Given the description of an element on the screen output the (x, y) to click on. 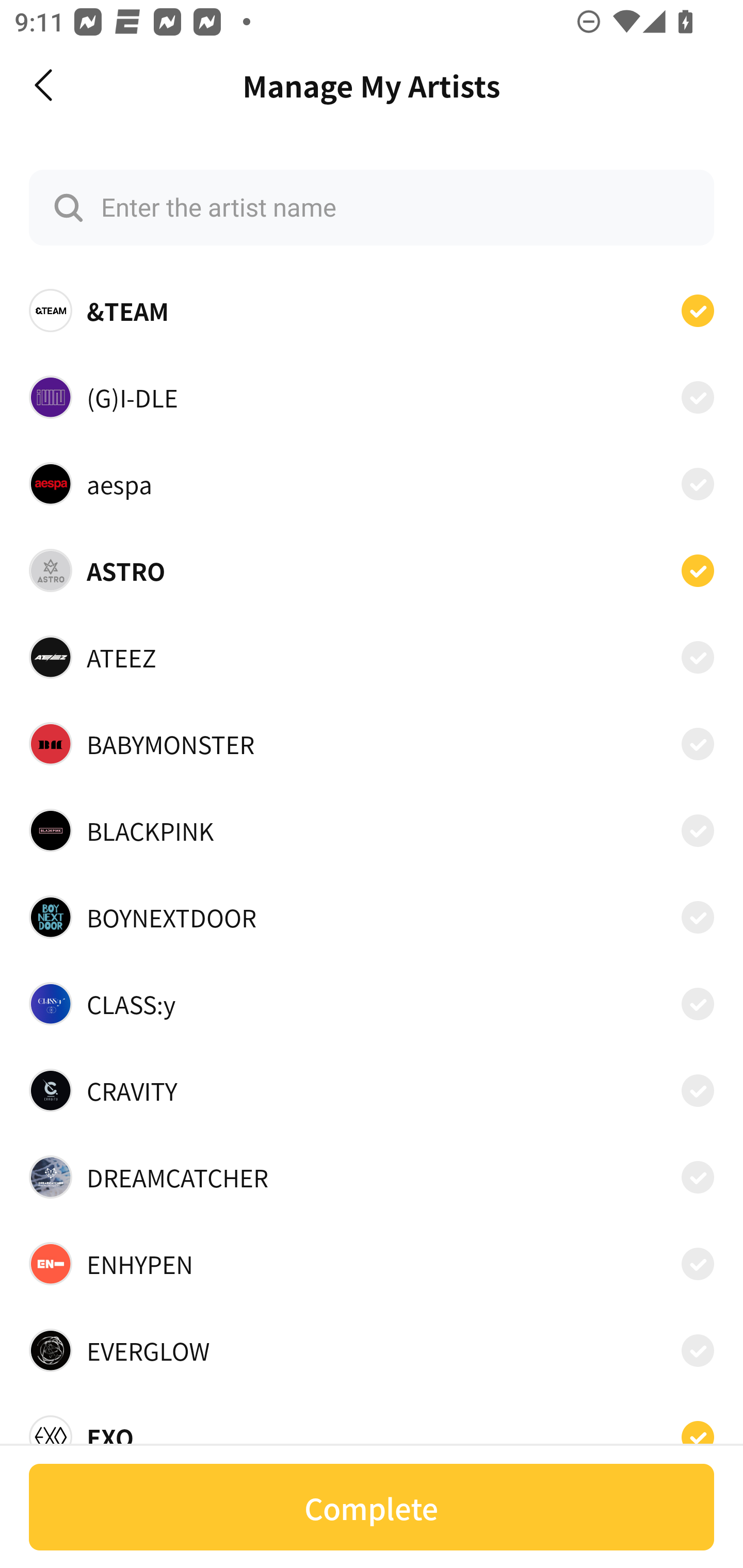
Enter the artist name (371, 207)
&TEAM (371, 310)
(G)I-DLE (371, 396)
aespa (371, 483)
ASTRO (371, 570)
ATEEZ (371, 656)
BABYMONSTER (371, 743)
BLACKPINK (371, 830)
BOYNEXTDOOR (371, 917)
CLASS:y (371, 1003)
CRAVITY (371, 1090)
DREAMCATCHER (371, 1176)
ENHYPEN (371, 1263)
EVERGLOW (371, 1350)
EXO (371, 1430)
Complete (371, 1507)
